Given the description of an element on the screen output the (x, y) to click on. 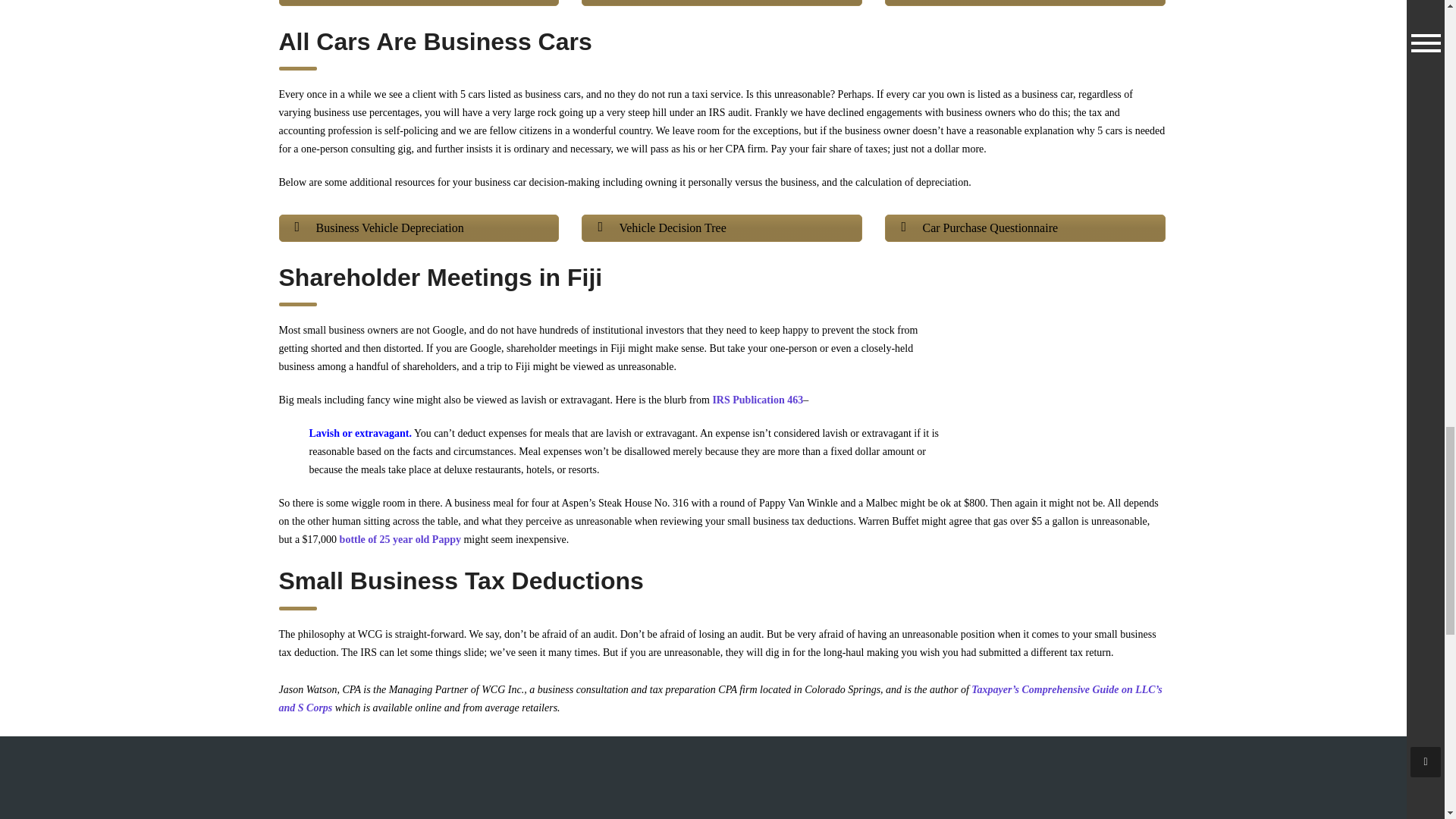
Vehicle Decision Tree (720, 227)
Home Office and Tax Home (419, 2)
Car Purchase Questionnaire (1025, 227)
Business Vehicle Depreciation (419, 227)
IRS Publication 463 (757, 399)
Home Office Depreciation (720, 2)
Home Office Maintenance (1025, 2)
bottle of 25 year old Pappy (400, 539)
